Given the description of an element on the screen output the (x, y) to click on. 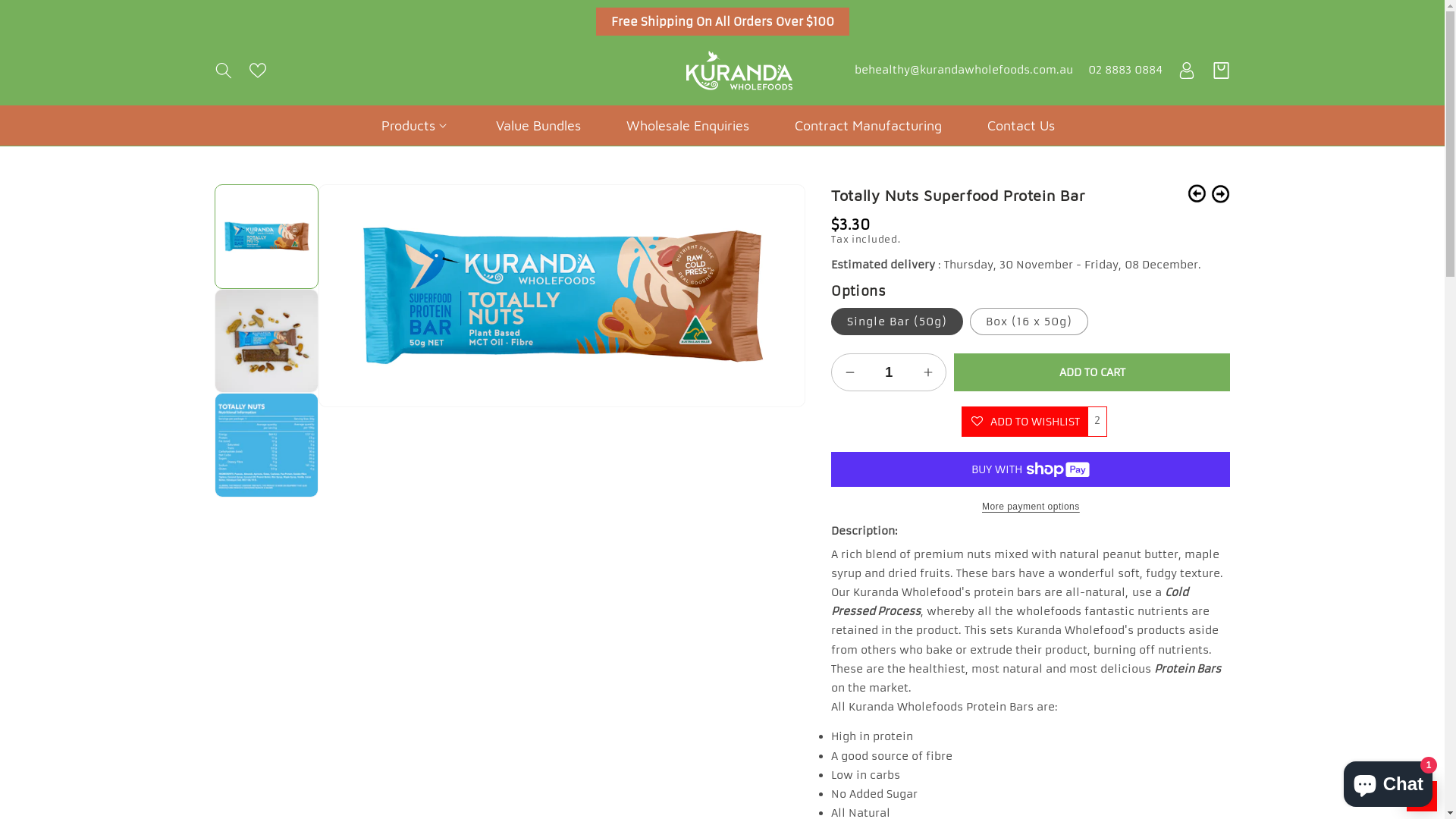
ADD TO WISHLIST Element type: text (1024, 421)
behealthy@kurandawholefoods.com.au Element type: text (962, 70)
Cart Element type: text (1220, 70)
Decrease quantity for Totally Nuts Superfood Protein Bar Element type: text (849, 372)
Shopify online store chat Element type: hover (1388, 780)
ADD TO CART Element type: text (1091, 372)
SKIP TO PRODUCT INFORMATION Element type: text (363, 202)
Contact Us Element type: text (1020, 125)
Log in Element type: text (1185, 70)
Value Bundles Element type: text (538, 125)
02 8883 0884 Element type: text (1124, 70)
Wholesale Enquiries Element type: text (687, 125)
Next Element type: text (1220, 193)
Increase quantity for Totally Nuts Superfood Protein Bar Element type: text (927, 372)
MY WISHLIST Element type: text (1421, 796)
Contract Manufacturing Element type: text (867, 125)
More payment options Element type: text (1030, 506)
Previous Element type: text (1196, 193)
